Given the description of an element on the screen output the (x, y) to click on. 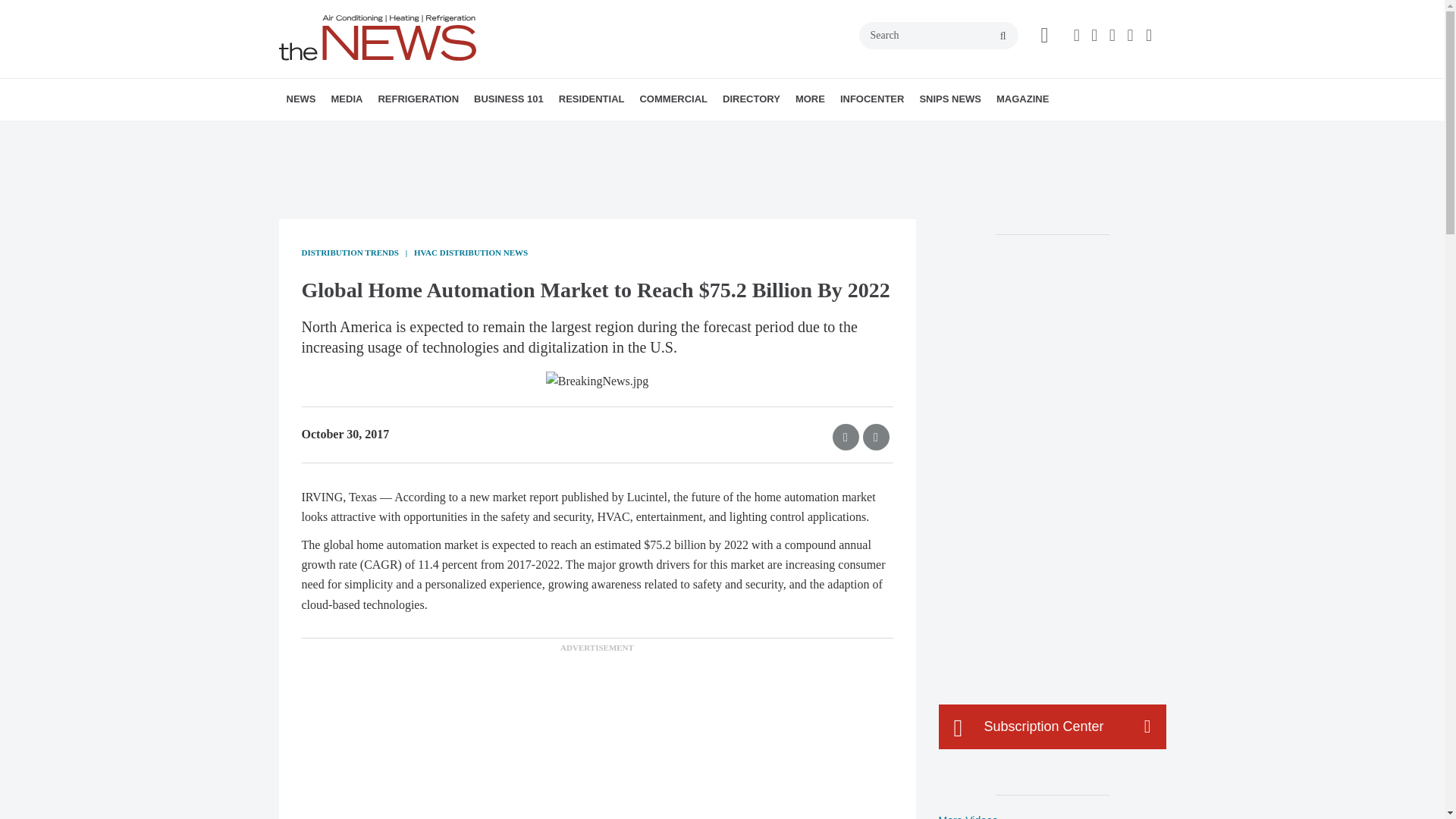
PODCASTS (430, 132)
EBOOKS (442, 132)
THE NEWS HVACR QUIZ (445, 132)
DUCTWORD PUZZLE (449, 132)
search (1002, 36)
BUSINESS 101 (508, 98)
WEBINARS (436, 132)
NEW HVAC PRODUCTS (380, 132)
HVAC DATA (391, 132)
FROSTLINES (478, 132)
Search (938, 35)
REFRIGERATION (417, 98)
ONLINE POLL (452, 132)
Search (938, 35)
MANUFACTURER REPORTS (386, 132)
